Given the description of an element on the screen output the (x, y) to click on. 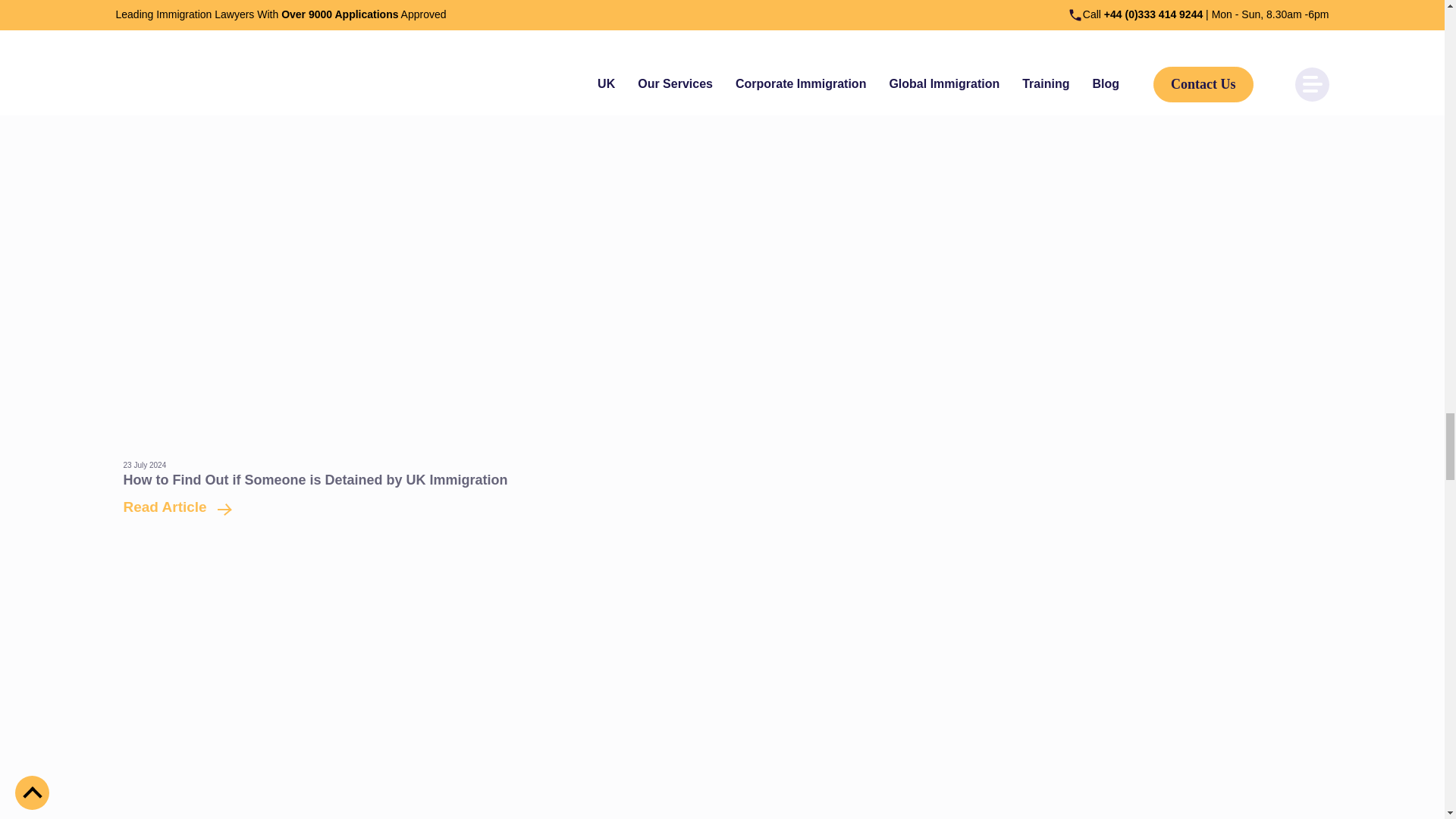
How to Find Out if Someone is Detained by UK Immigration (171, 506)
How to Find Out if Someone is Detained by UK Immigration (314, 479)
